Given the description of an element on the screen output the (x, y) to click on. 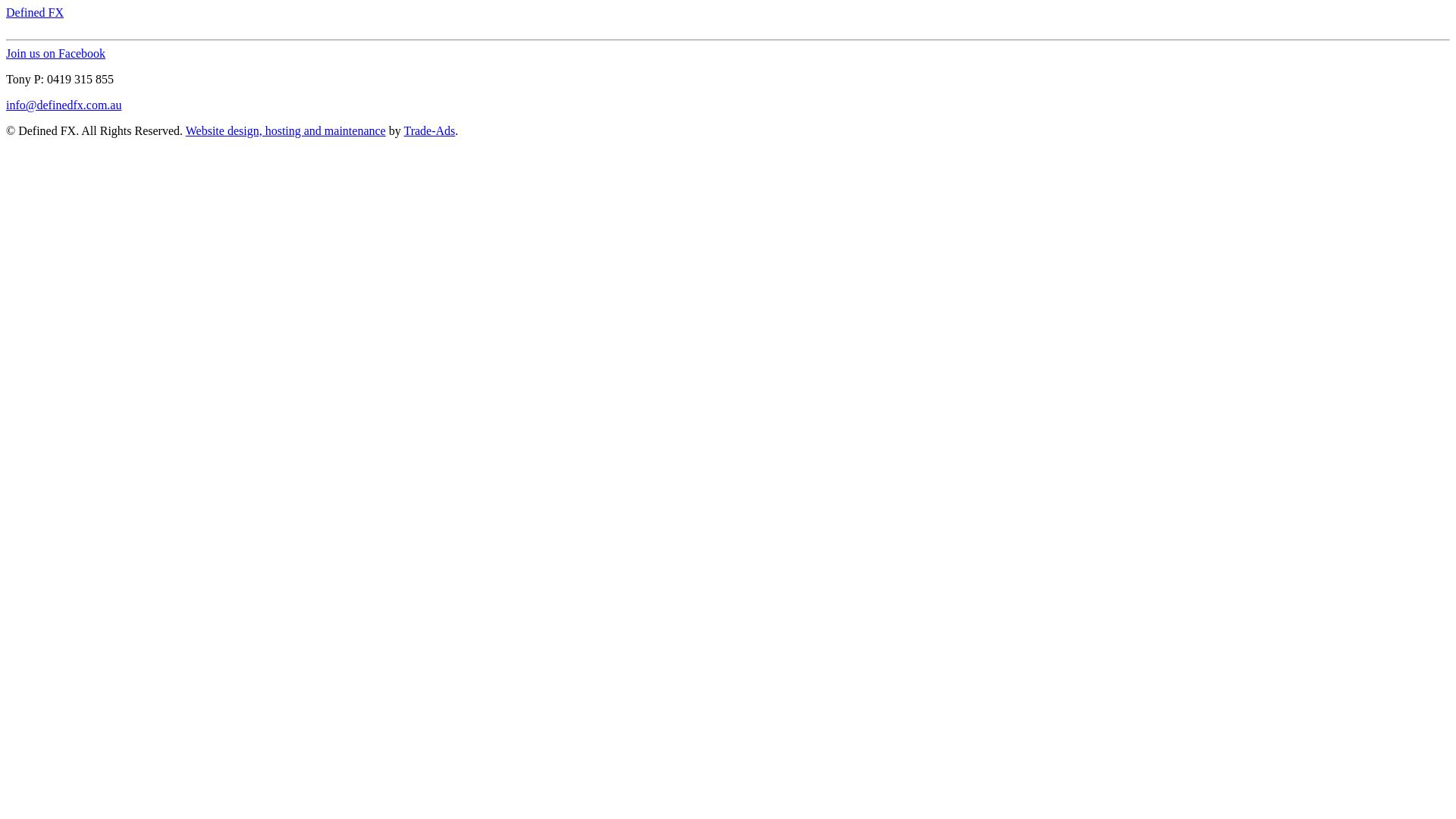
Trade-Ads Element type: text (429, 130)
info@definedfx.com.au Element type: text (63, 104)
Join us on Facebook Element type: text (55, 53)
Defined FX Element type: text (34, 12)
Website design, hosting and maintenance Element type: text (285, 130)
